Given the description of an element on the screen output the (x, y) to click on. 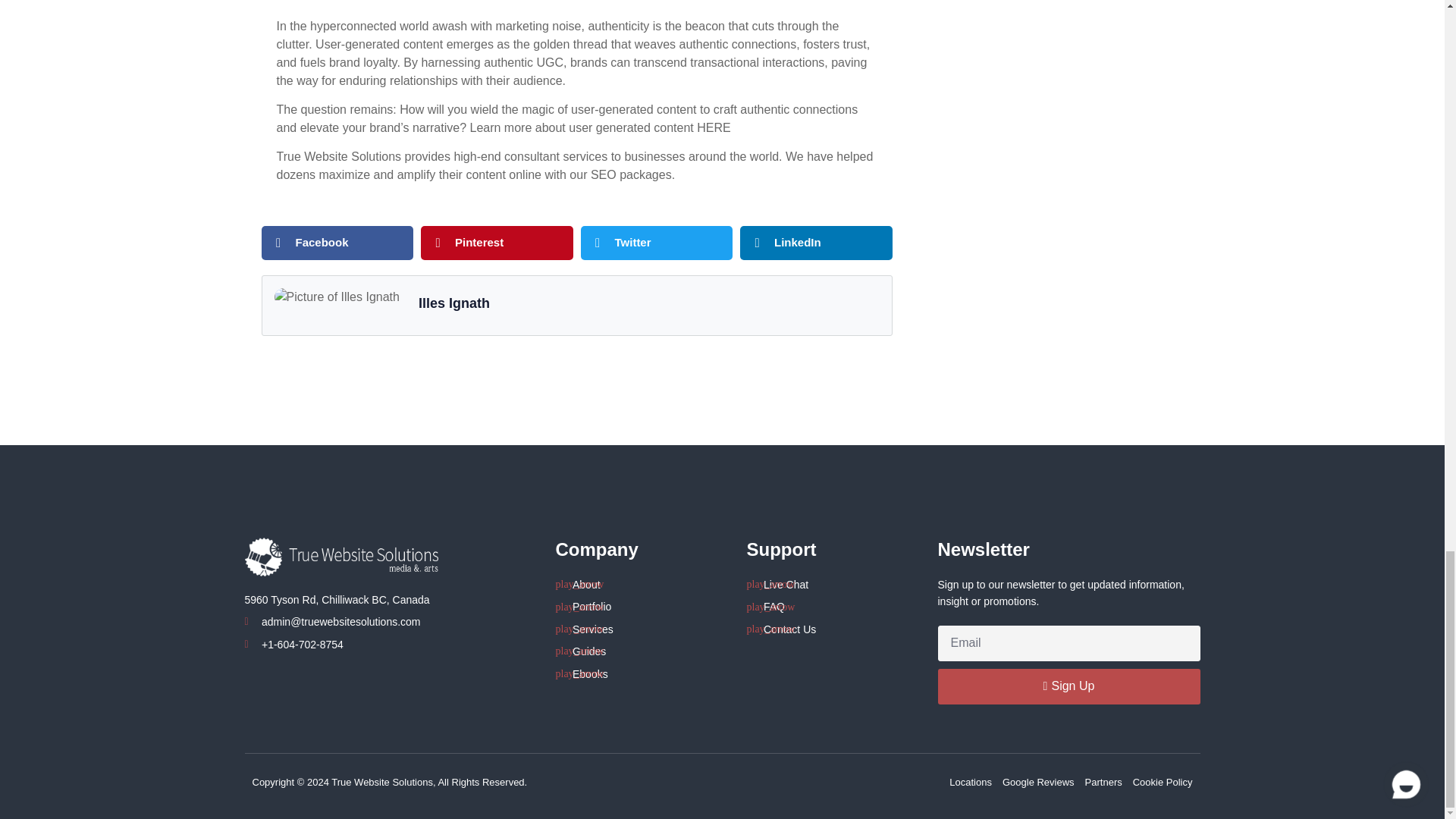
SEO packages (631, 174)
TWS-Full-Logo-white.png (341, 556)
services (584, 155)
HERE (713, 127)
True Website Solutions (338, 155)
